Given the description of an element on the screen output the (x, y) to click on. 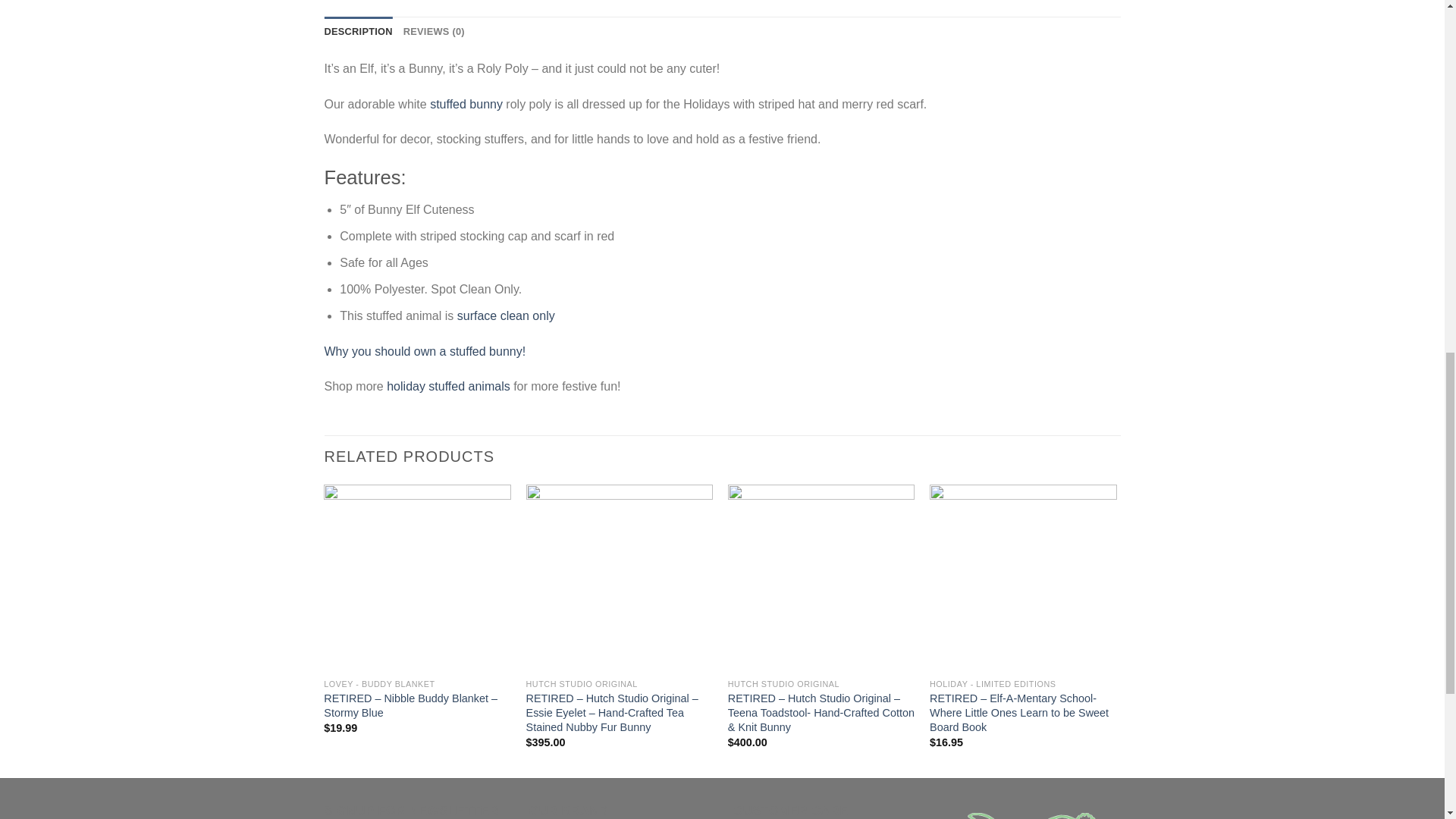
stuffed bunny (465, 103)
holiday stuffed animals (448, 386)
Why you should own a stuffed bunny! (424, 350)
surface clean only (505, 315)
DESCRIPTION (358, 31)
